Given the description of an element on the screen output the (x, y) to click on. 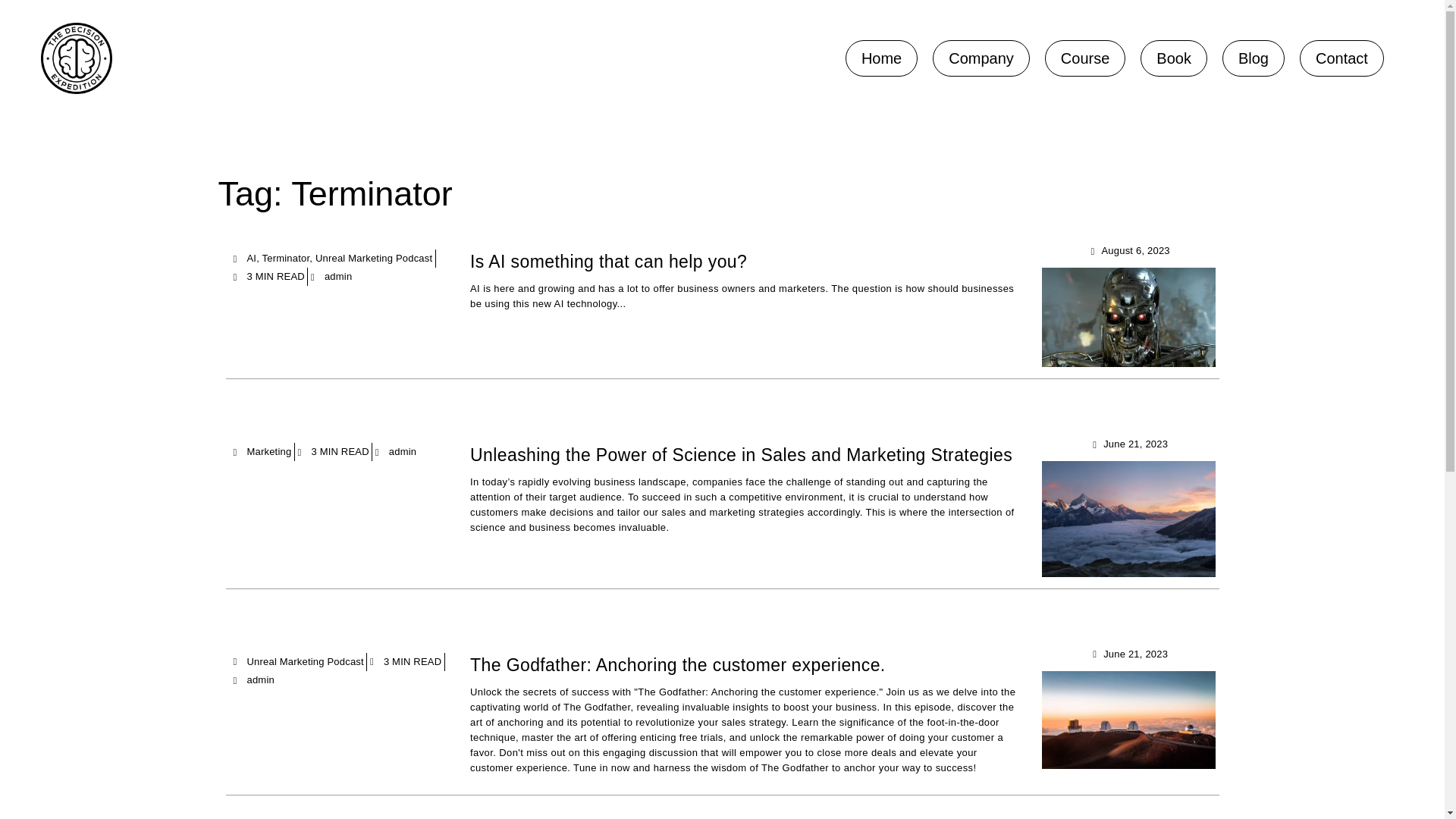
admin (395, 452)
June 21, 2023 (1128, 654)
admin (253, 679)
Company (981, 58)
admin (331, 276)
Unreal Marketing Podcast (305, 661)
Home (881, 58)
Contact (1341, 58)
Blog (1253, 58)
